Given the description of an element on the screen output the (x, y) to click on. 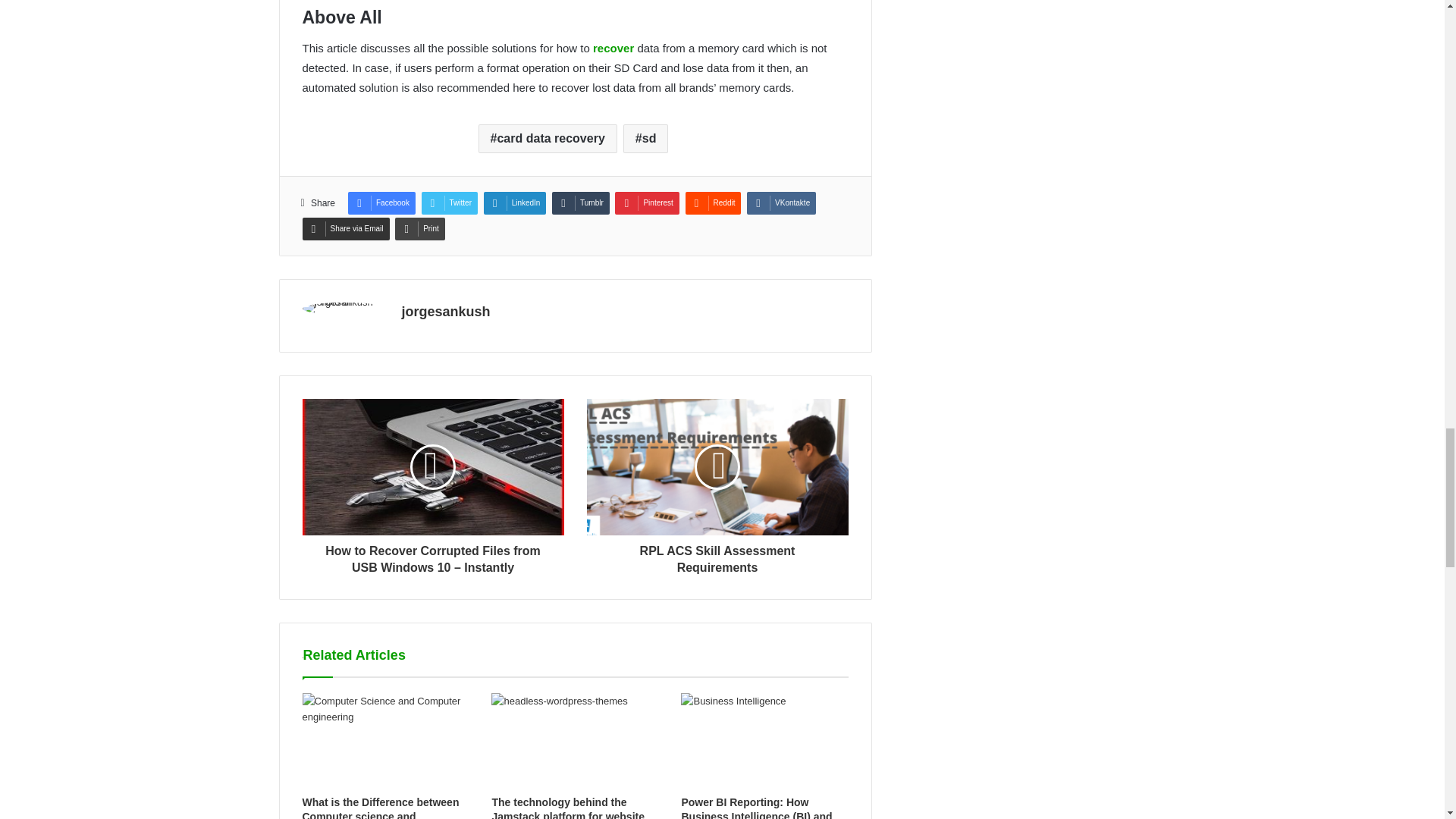
card data recovery (548, 138)
recover (614, 47)
sd (645, 138)
